Given the description of an element on the screen output the (x, y) to click on. 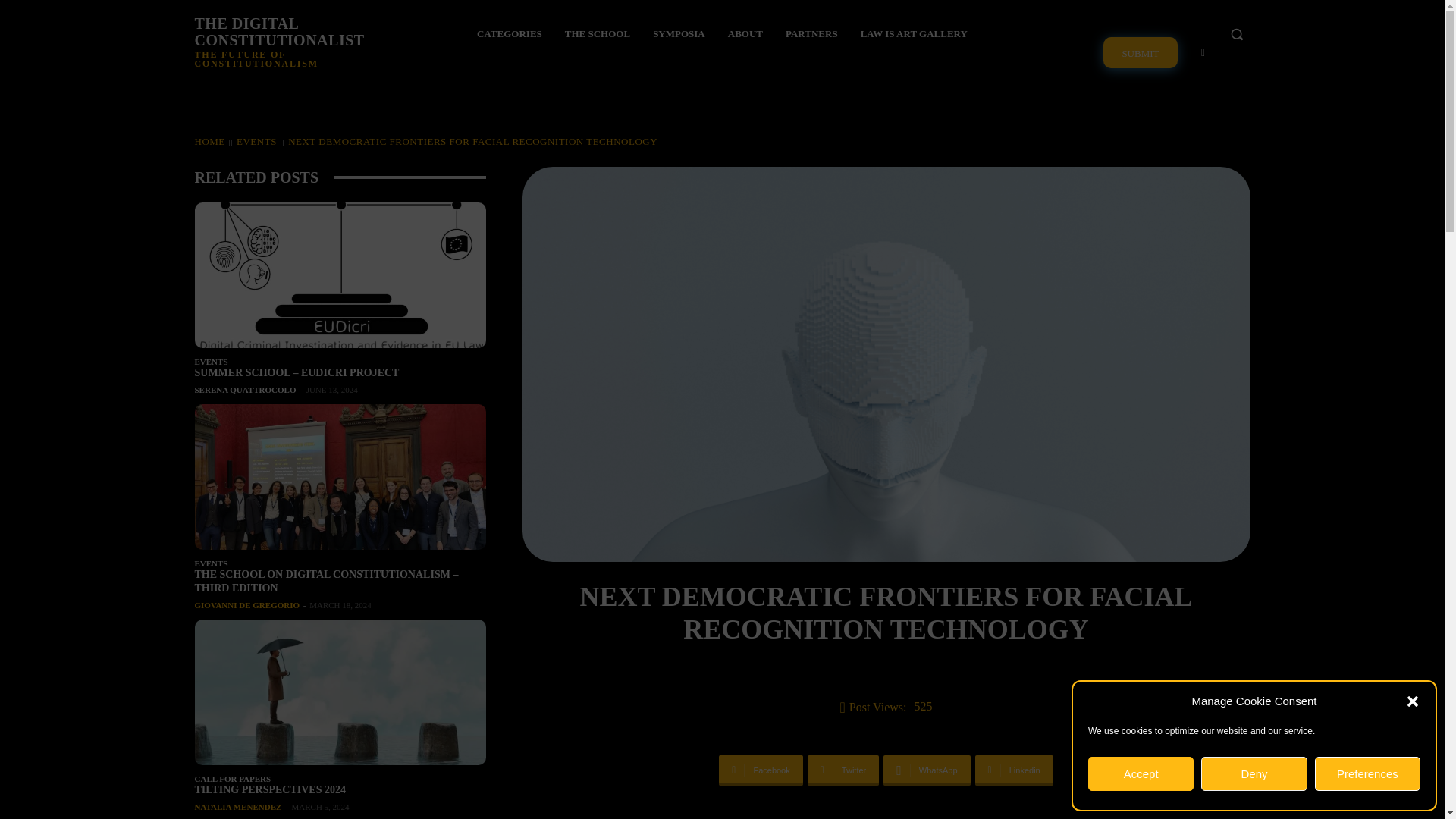
TILTing Perspectives 2024 (338, 691)
View all posts in Events (255, 141)
Preferences (1367, 773)
Submit  (1139, 51)
Deny (1253, 773)
Accept (1140, 773)
Twitter (1202, 52)
CATEGORIES (509, 33)
